Given the description of an element on the screen output the (x, y) to click on. 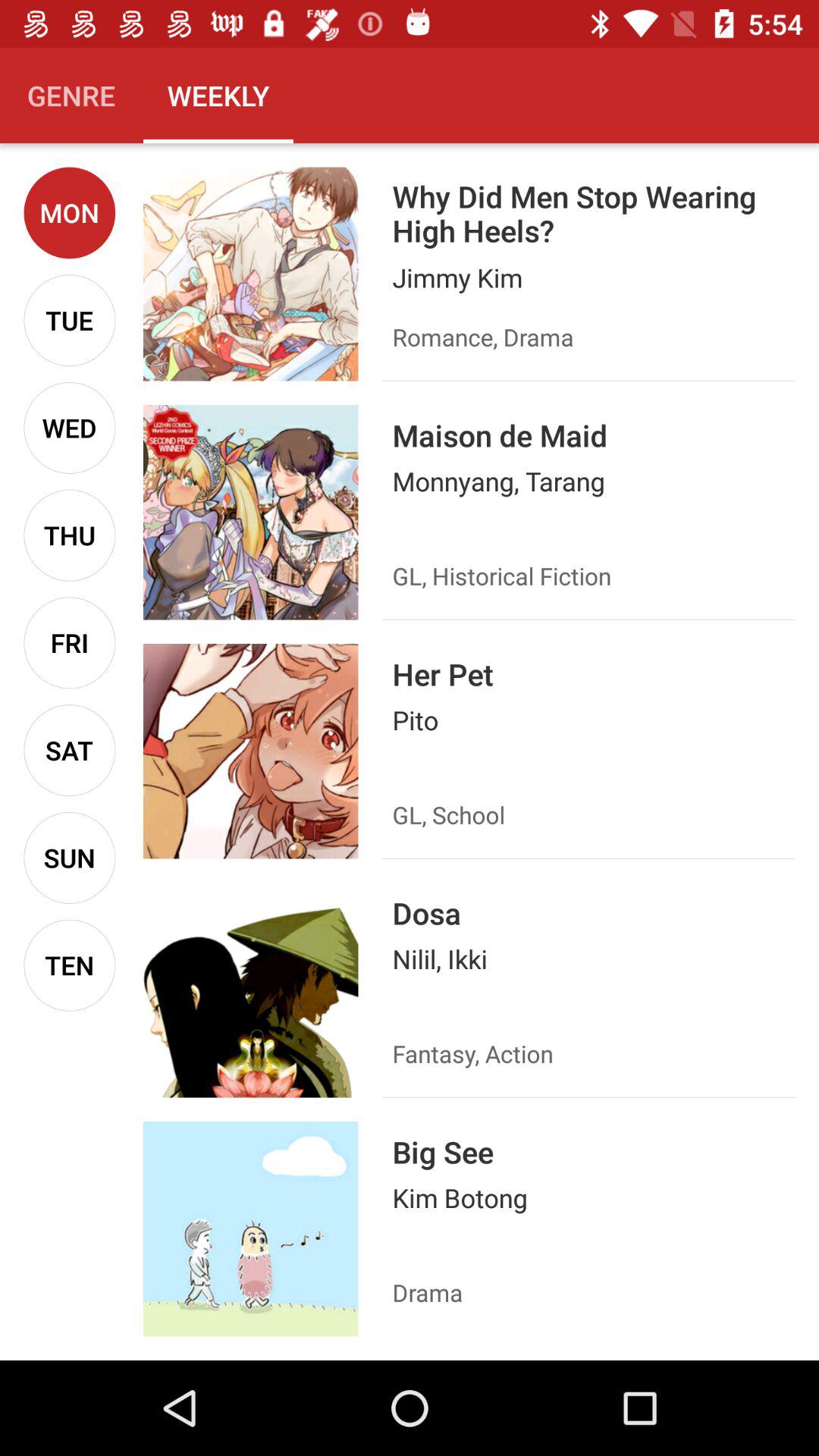
tap the item above ten (69, 857)
